Given the description of an element on the screen output the (x, y) to click on. 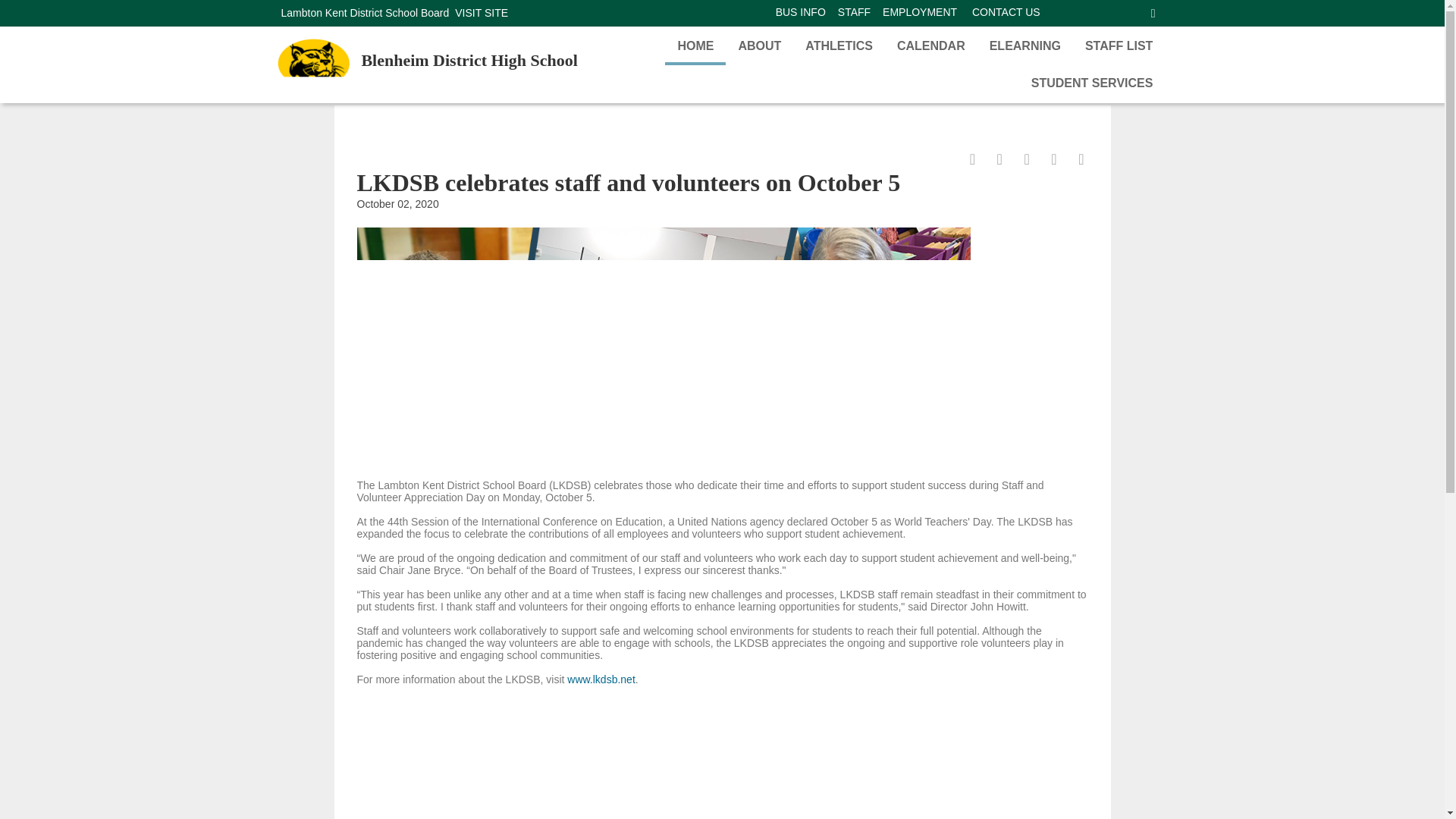
STAFF (854, 11)
ATHLETICS (839, 44)
email (1021, 160)
CALENDAR (930, 44)
twitter (994, 160)
STAFF LIST (1118, 44)
HOME (695, 44)
STUDENT SERVICES (1092, 81)
ABOUT (759, 44)
Lambton Kent District School BoardVISIT SITE (394, 13)
ELEARNING (1024, 44)
CONTACT US (1006, 11)
BUS INFO (800, 11)
facebook (966, 160)
Back to Home (316, 65)
